Given the description of an element on the screen output the (x, y) to click on. 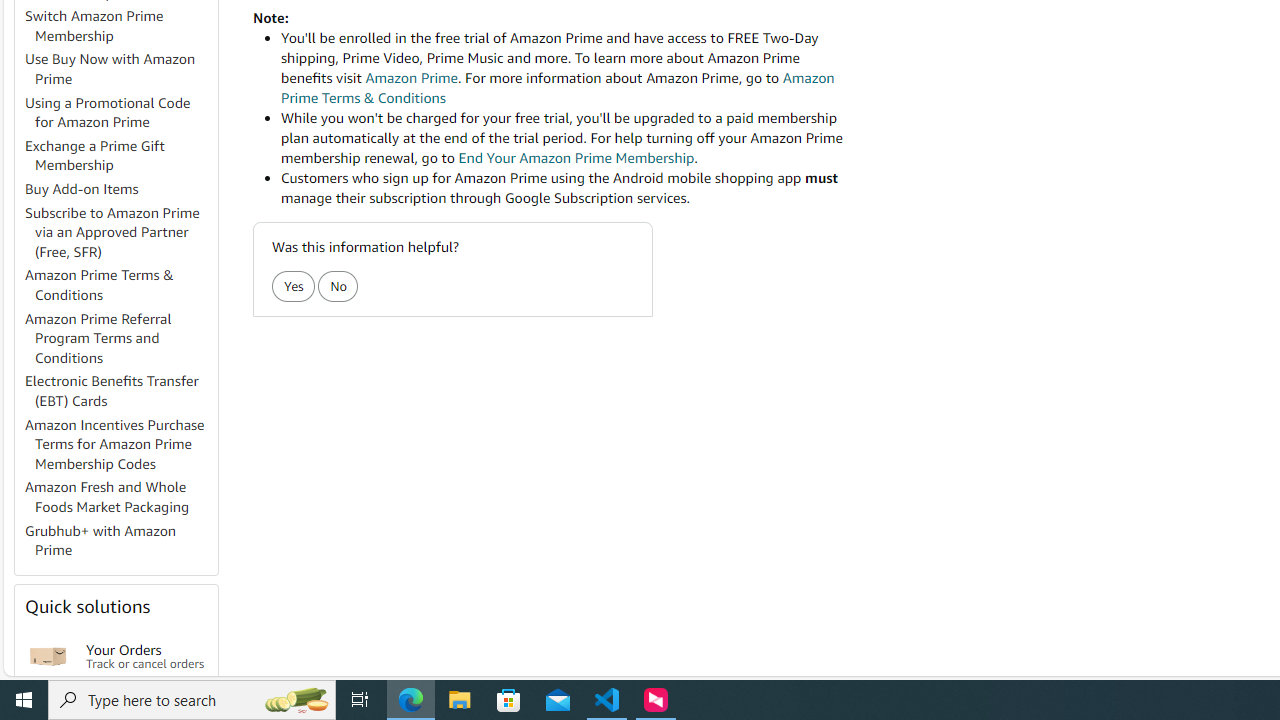
Exchange a Prime Gift Membership (95, 155)
Amazon Prime Referral Program Terms and Conditions (120, 338)
Amazon Fresh and Whole Foods Market Packaging (120, 497)
Amazon Prime Referral Program Terms and Conditions (98, 337)
Buy Add-on Items (120, 190)
Your Orders (48, 655)
Your Orders (48, 655)
No (338, 286)
Amazon Prime Terms & Conditions (99, 284)
Amazon Fresh and Whole Foods Market Packaging (107, 497)
Amazon Prime Terms & Conditions (120, 285)
Amazon Prime (411, 78)
